Given the description of an element on the screen output the (x, y) to click on. 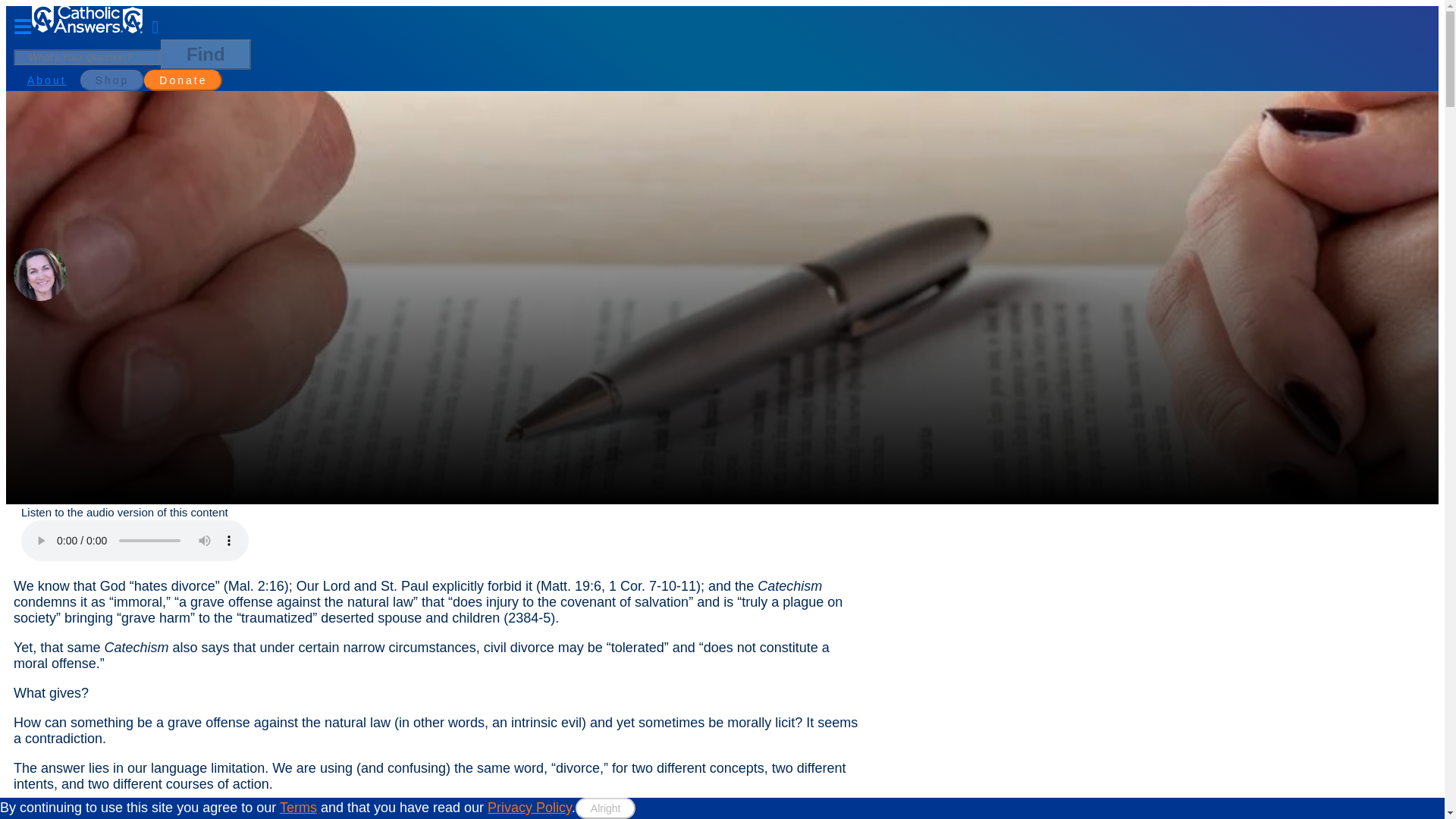
About (46, 80)
Find (205, 54)
Shop (112, 79)
Shop (112, 79)
